Given the description of an element on the screen output the (x, y) to click on. 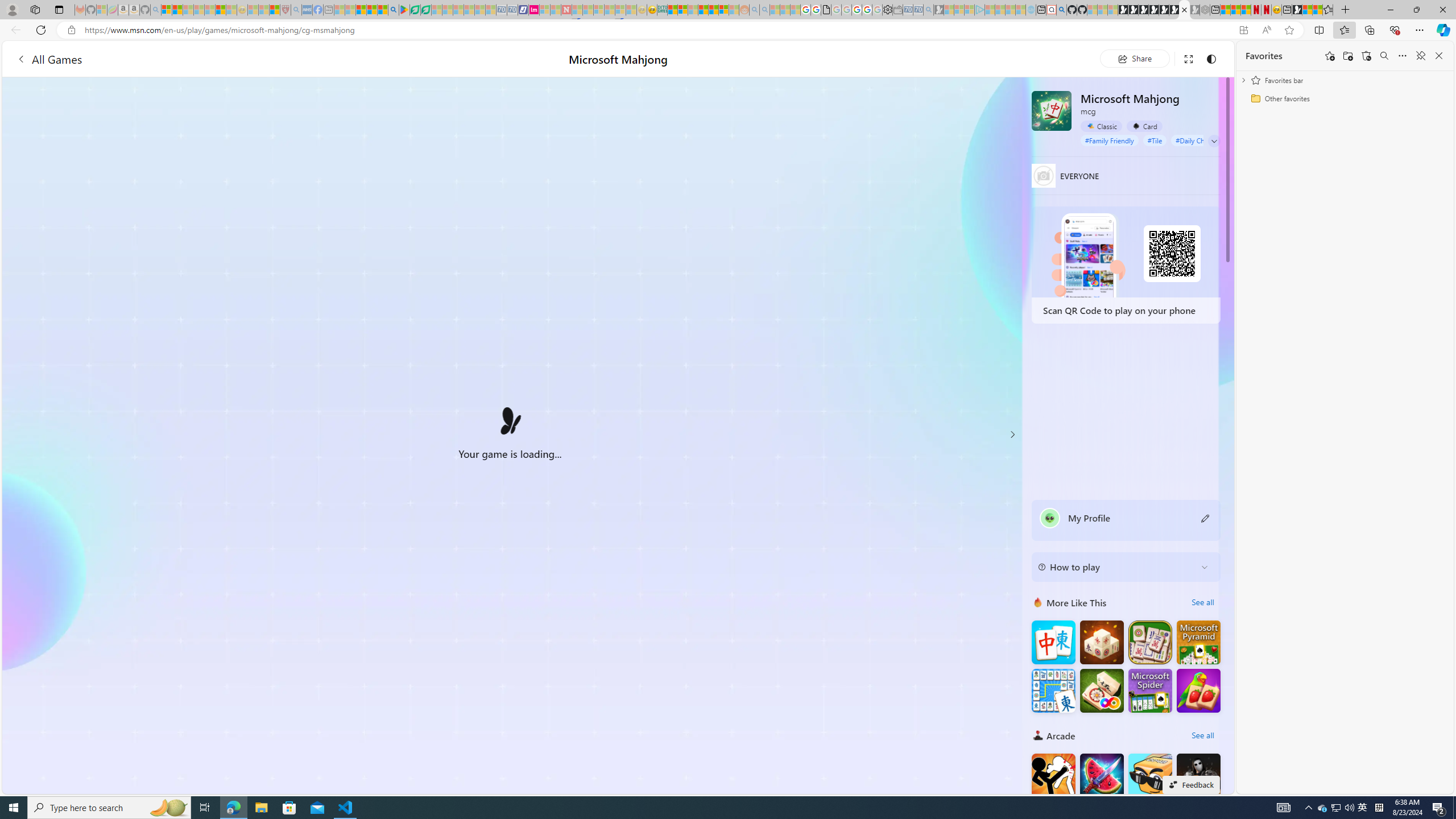
Class: image (510, 424)
How to play (1116, 566)
Class: control (1214, 140)
Restore deleted favorites (1366, 55)
Mahjong Connect Deluxe (1053, 690)
""'s avatar (1049, 518)
